Given the description of an element on the screen output the (x, y) to click on. 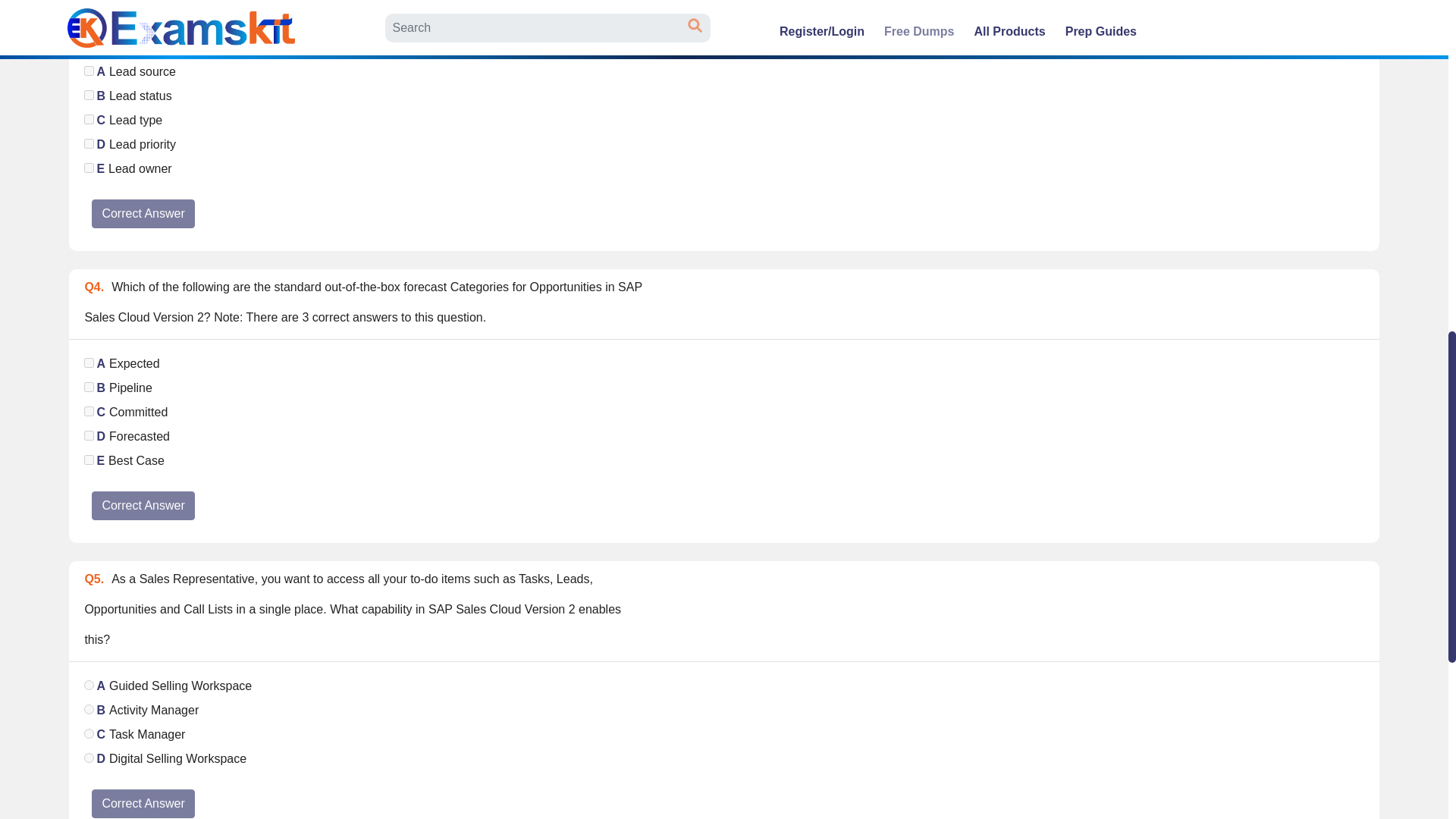
A (89, 685)
A (89, 362)
E (89, 460)
D (89, 143)
E (89, 167)
C (89, 411)
B (89, 94)
A (89, 71)
D (89, 435)
C (89, 119)
